Given the description of an element on the screen output the (x, y) to click on. 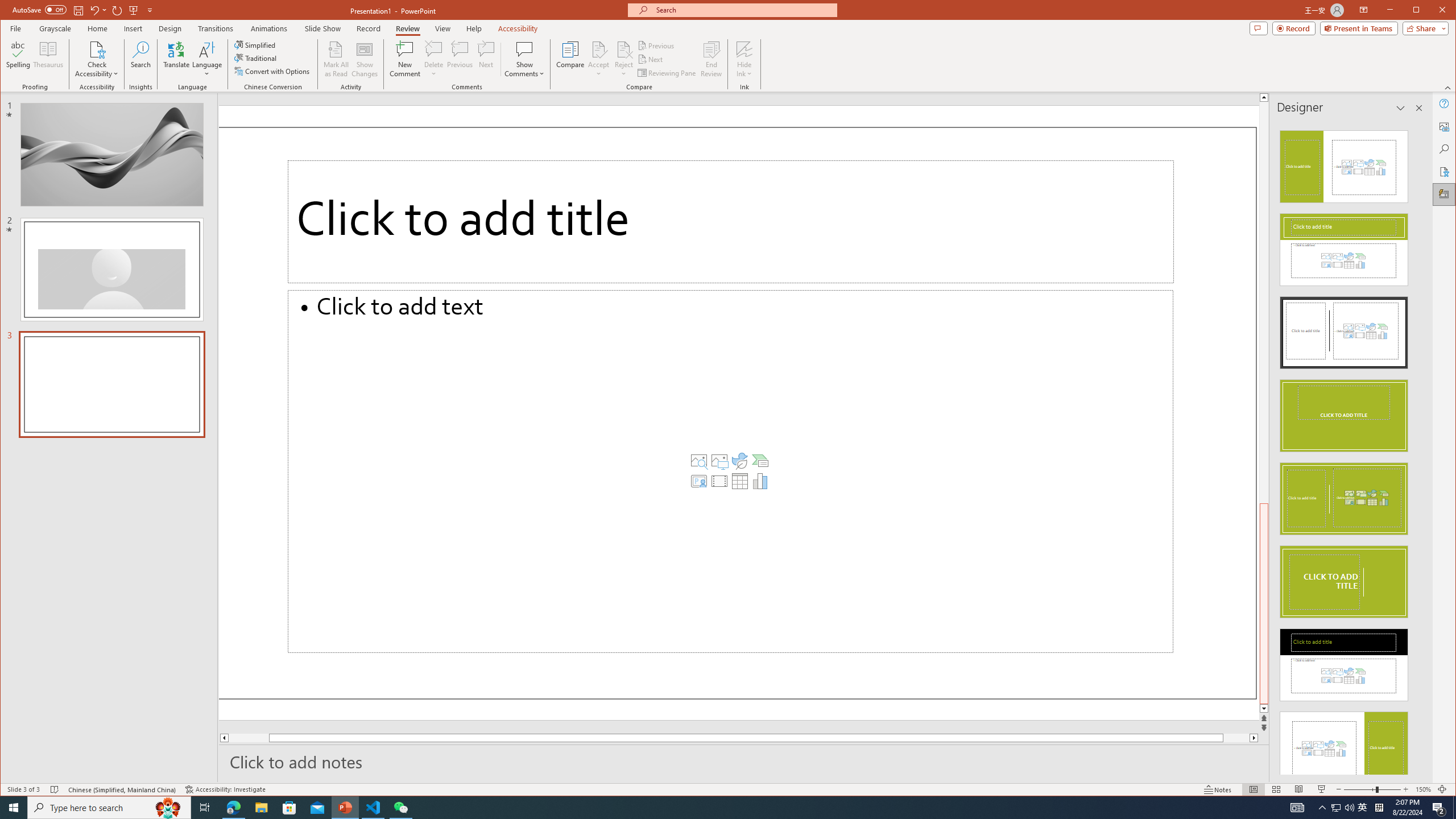
Thesaurus... (48, 59)
Reject Change (623, 48)
Pictures (719, 460)
Design Idea (1343, 744)
Translate (175, 59)
New Comment (405, 59)
